Given the description of an element on the screen output the (x, y) to click on. 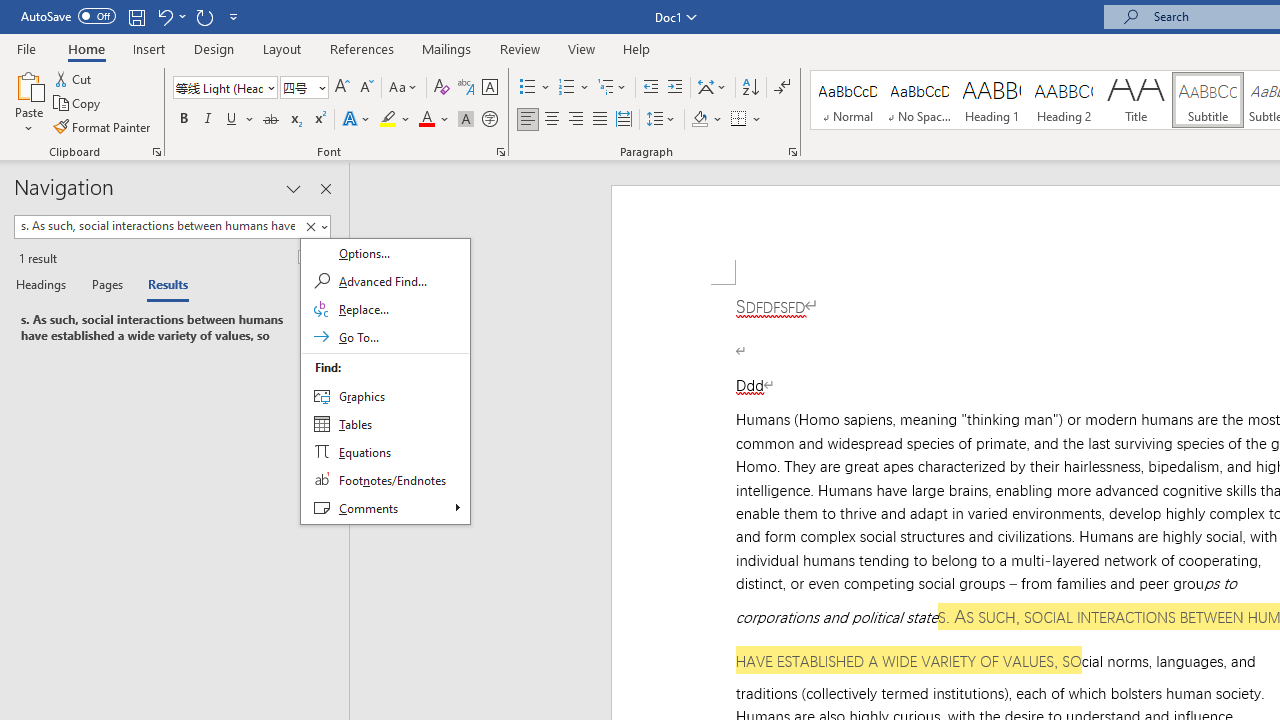
Subtitle (1208, 100)
Italic (207, 119)
Heading 2 (1063, 100)
Office Clipboard... (156, 151)
Sort... (750, 87)
Font... (500, 151)
Phonetic Guide... (465, 87)
Text Highlight Color (395, 119)
Superscript (319, 119)
